Given the description of an element on the screen output the (x, y) to click on. 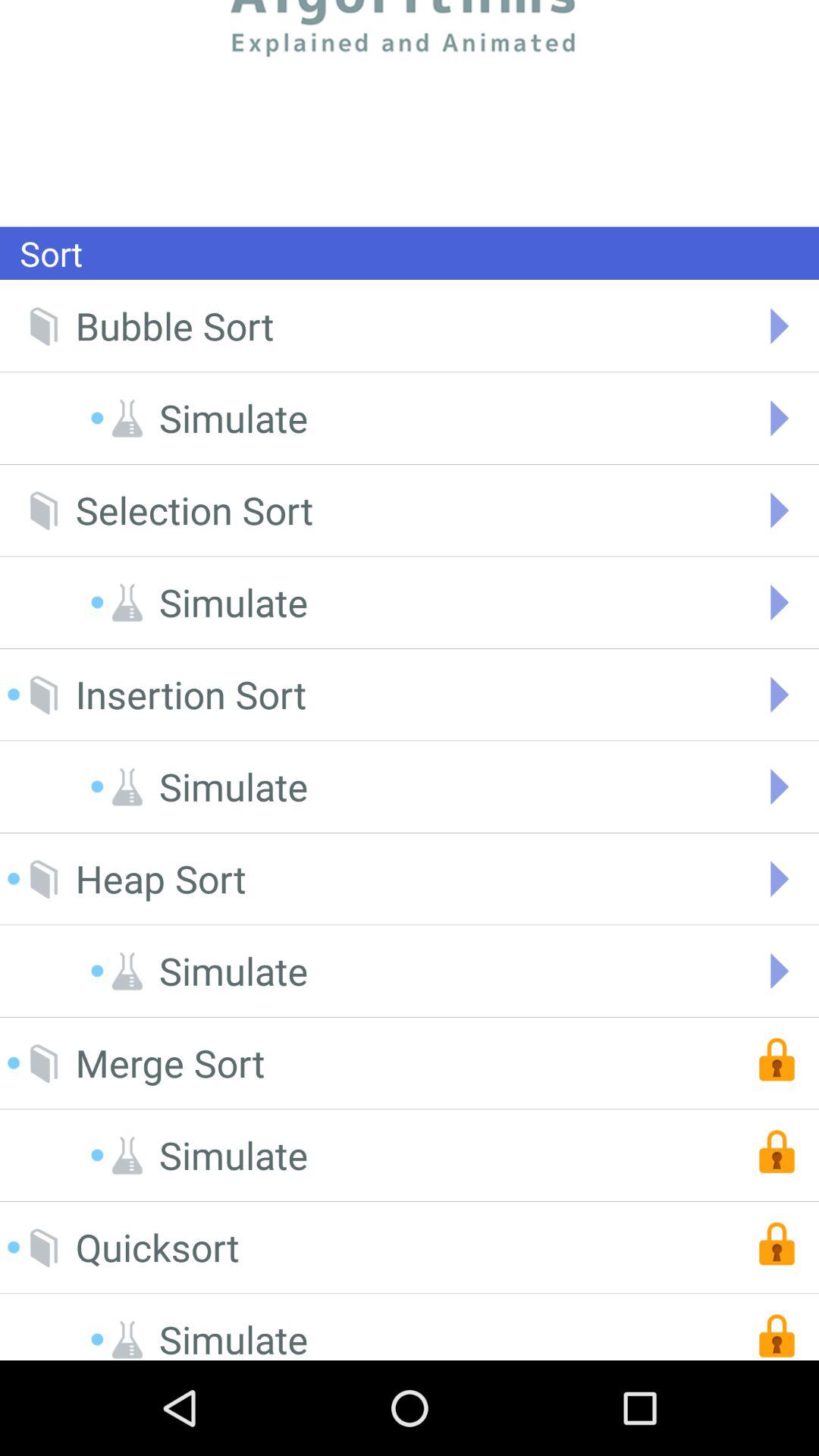
turn on the insertion sort icon (190, 694)
